Given the description of an element on the screen output the (x, y) to click on. 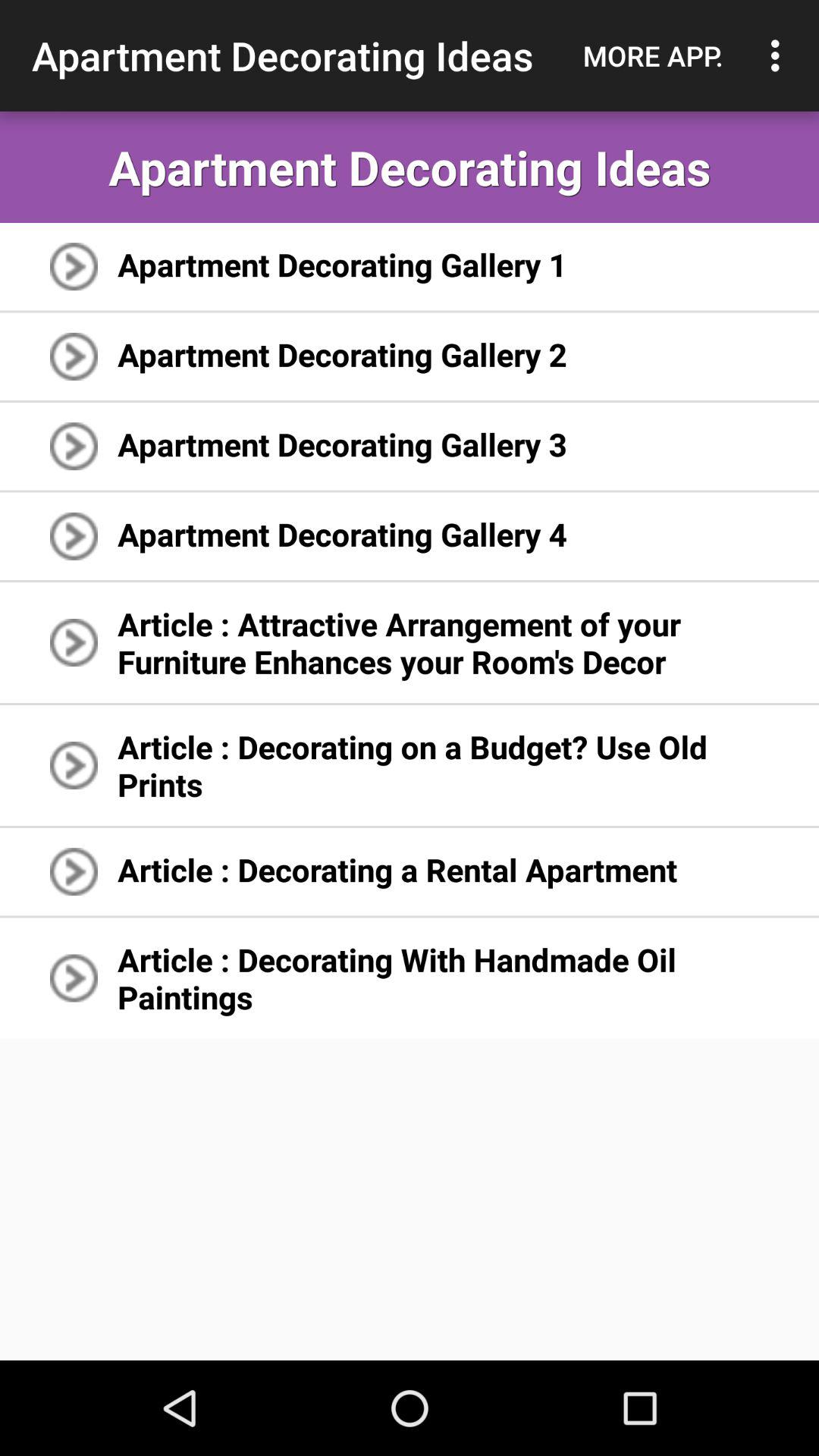
choose icon next to more app. (779, 55)
